Given the description of an element on the screen output the (x, y) to click on. 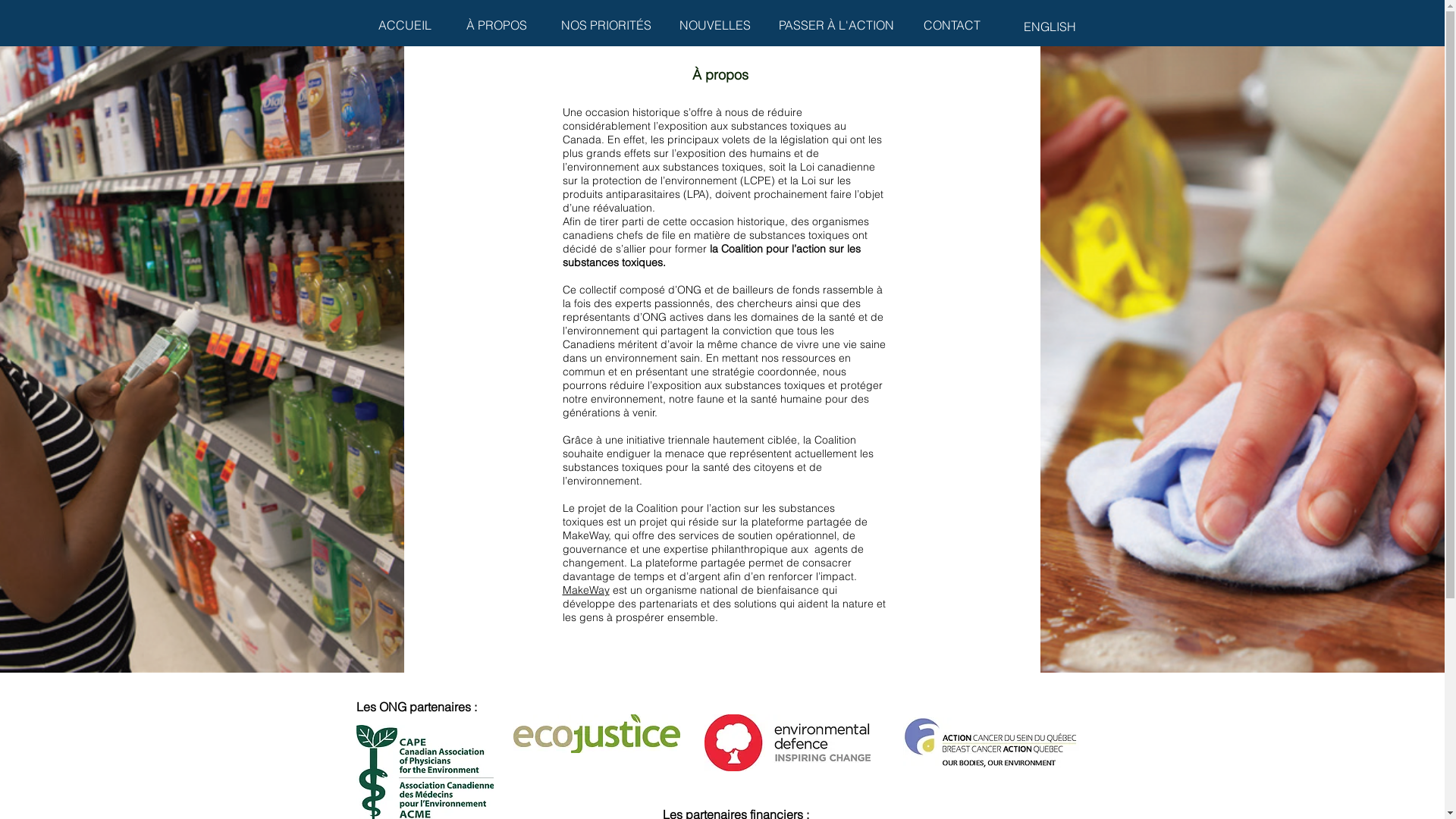
ENGLISH Element type: text (1050, 26)
CONTACT Element type: text (951, 25)
MakeWay Element type: text (585, 589)
ACCUEIL Element type: text (405, 25)
logo_with_tag_line_en_0.jpg Element type: hover (990, 742)
NOUVELLES Element type: text (714, 25)
